Given the description of an element on the screen output the (x, y) to click on. 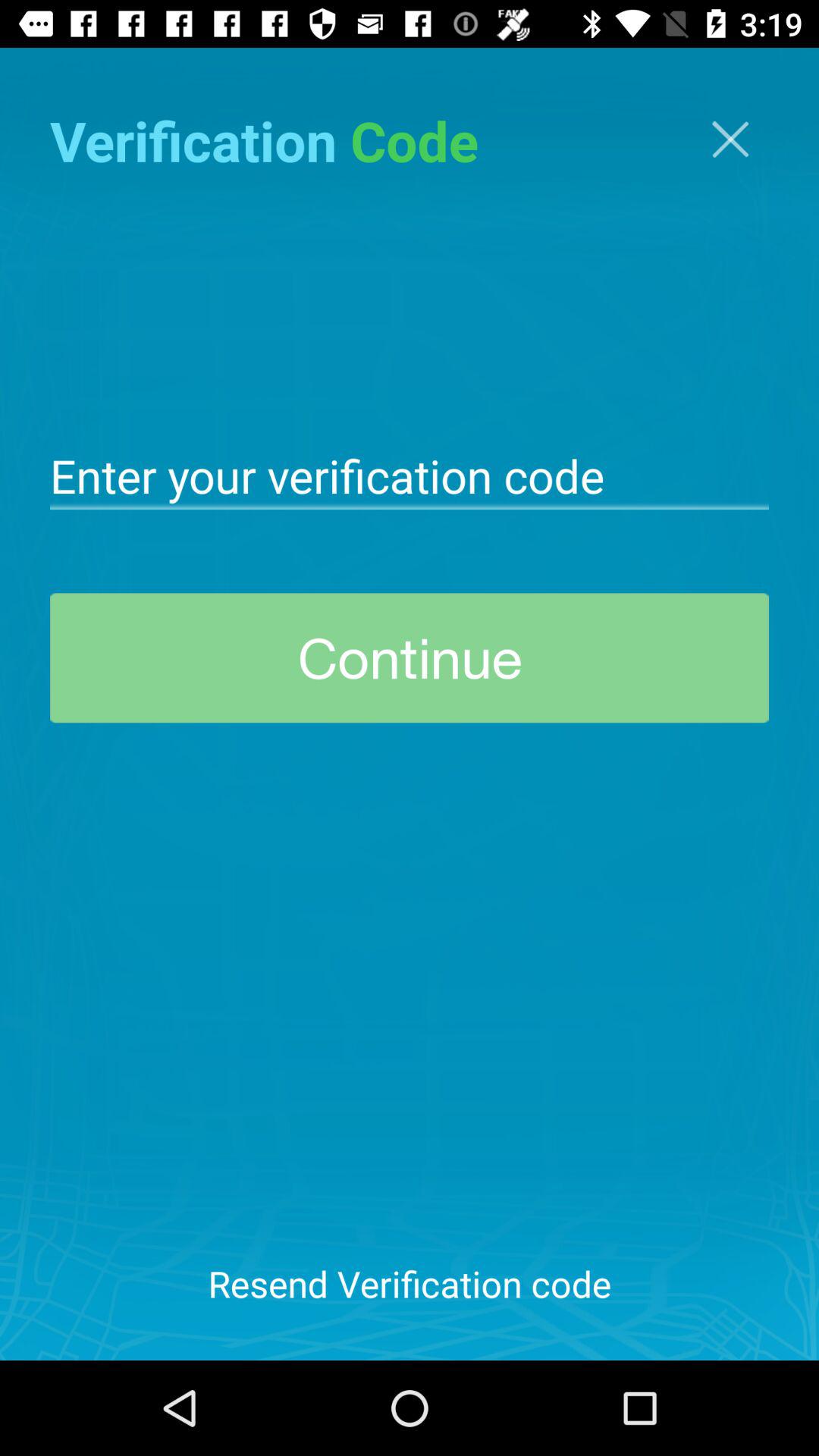
choose the continue at the center (409, 657)
